Given the description of an element on the screen output the (x, y) to click on. 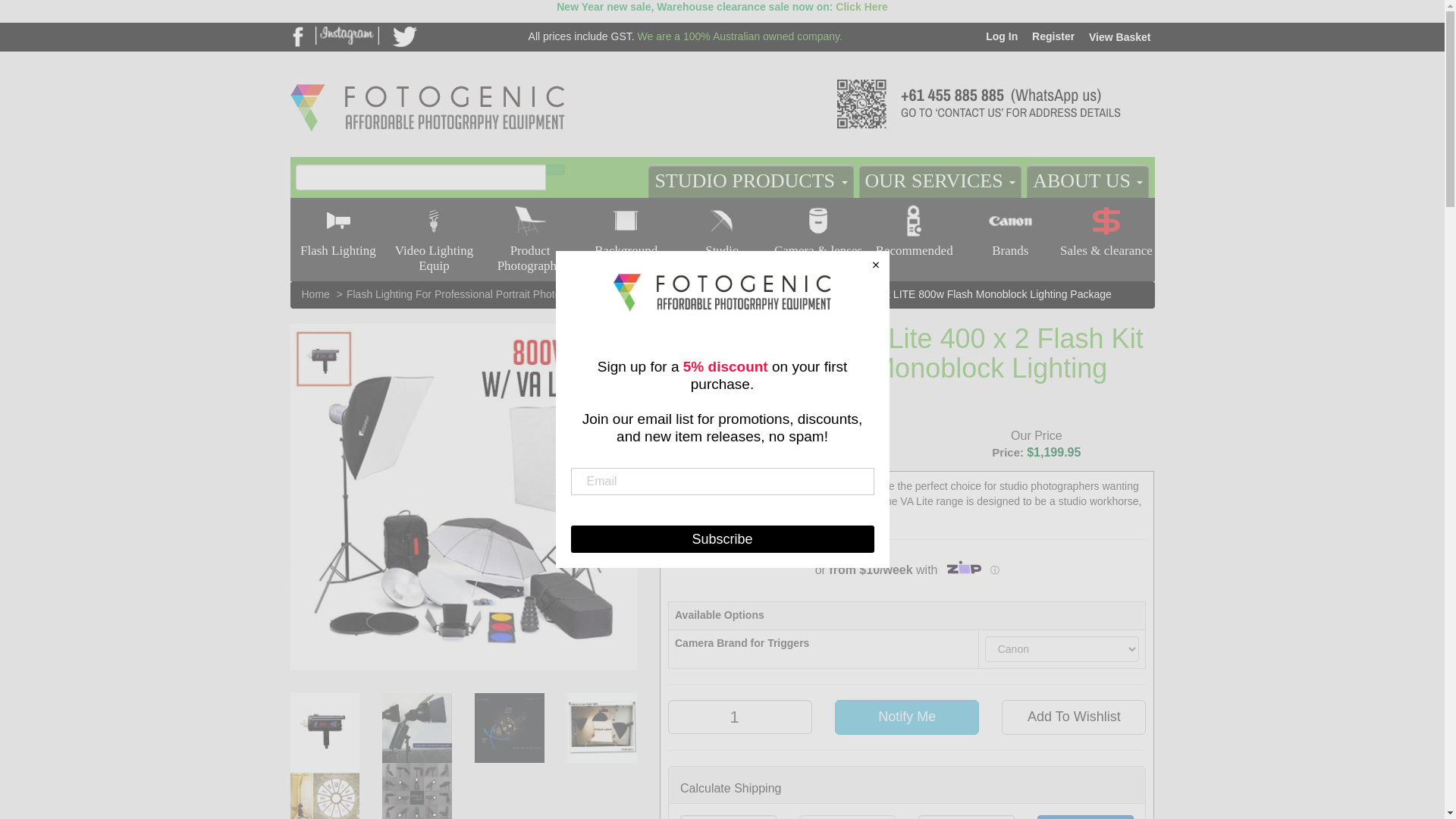
Large View (509, 727)
Register (1050, 36)
Calculate (1085, 816)
Large View (602, 727)
View Basket (1117, 37)
Large View (416, 727)
1 (740, 716)
Register (1050, 36)
Large View (416, 790)
Click Here (860, 6)
Large View (324, 790)
Flash Lighting (337, 235)
Login (999, 36)
Fotogenic Photo Video Camera Lighting Equipment (426, 82)
STUDIO PRODUCTS (750, 181)
